Given the description of an element on the screen output the (x, y) to click on. 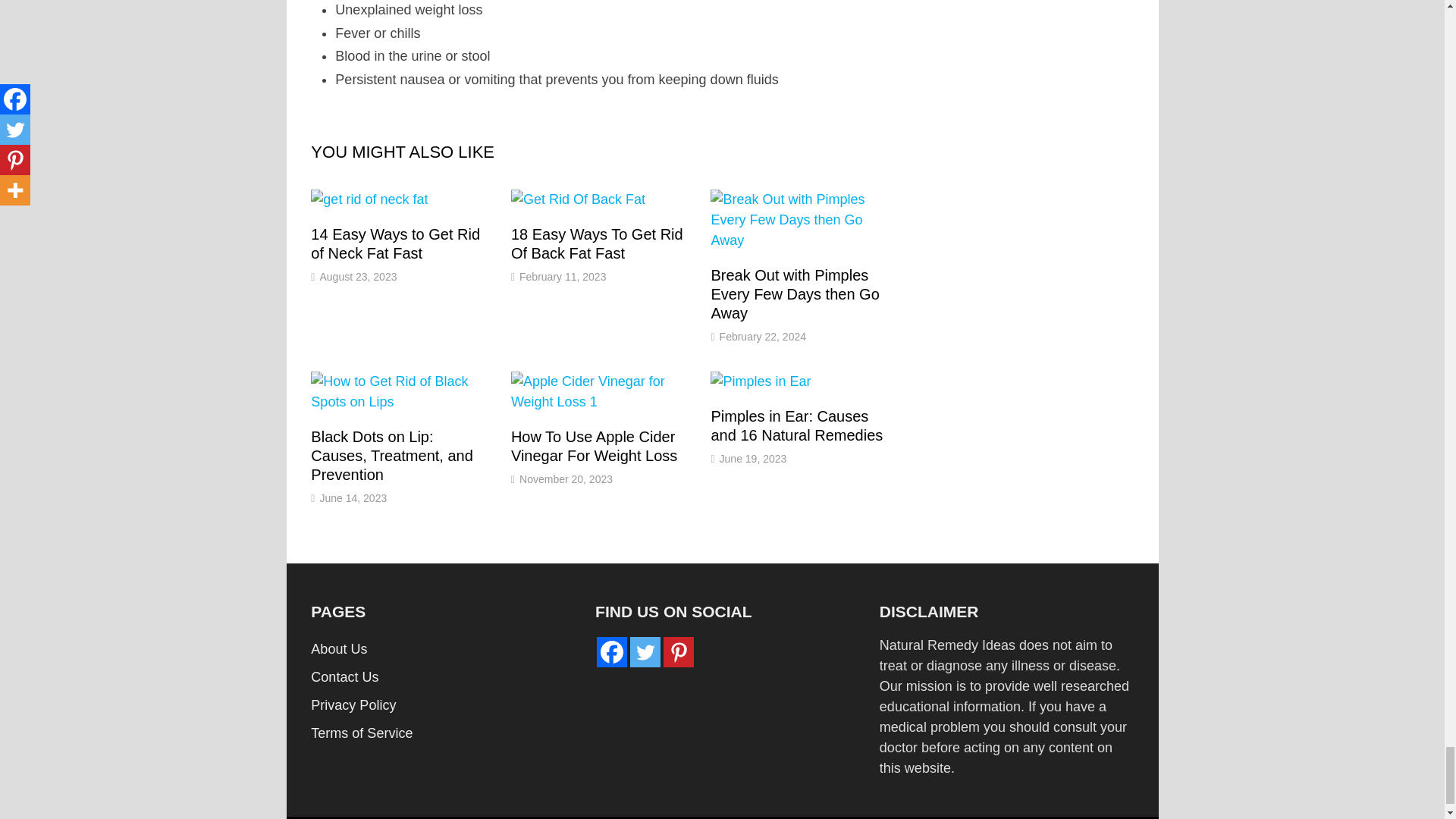
Break Out with Pimples Every Few Days then Go Away (794, 293)
18 Easy Ways To Get Rid Of Back Fat Fast (596, 243)
14 Easy Ways to Get Rid of Neck Fat Fast (395, 243)
14 Easy Ways to Get Rid of Neck Fat Fast (395, 243)
How To Use Apple Cider Vinegar For Weight Loss (594, 446)
February 11, 2023 (562, 276)
18 Easy Ways To Get Rid Of Back Fat Fast (596, 243)
February 22, 2024 (762, 336)
June 14, 2023 (352, 498)
Black Dots on Lip: Causes, Treatment, and Prevention (391, 455)
How To Use Apple Cider Vinegar For Weight Loss (594, 446)
August 23, 2023 (357, 276)
Break Out with Pimples Every Few Days then Go Away (794, 293)
Black Dots on Lip: Causes, Treatment, and Prevention (391, 455)
Pimples in Ear: Causes and 16 Natural Remedies (796, 425)
